Given the description of an element on the screen output the (x, y) to click on. 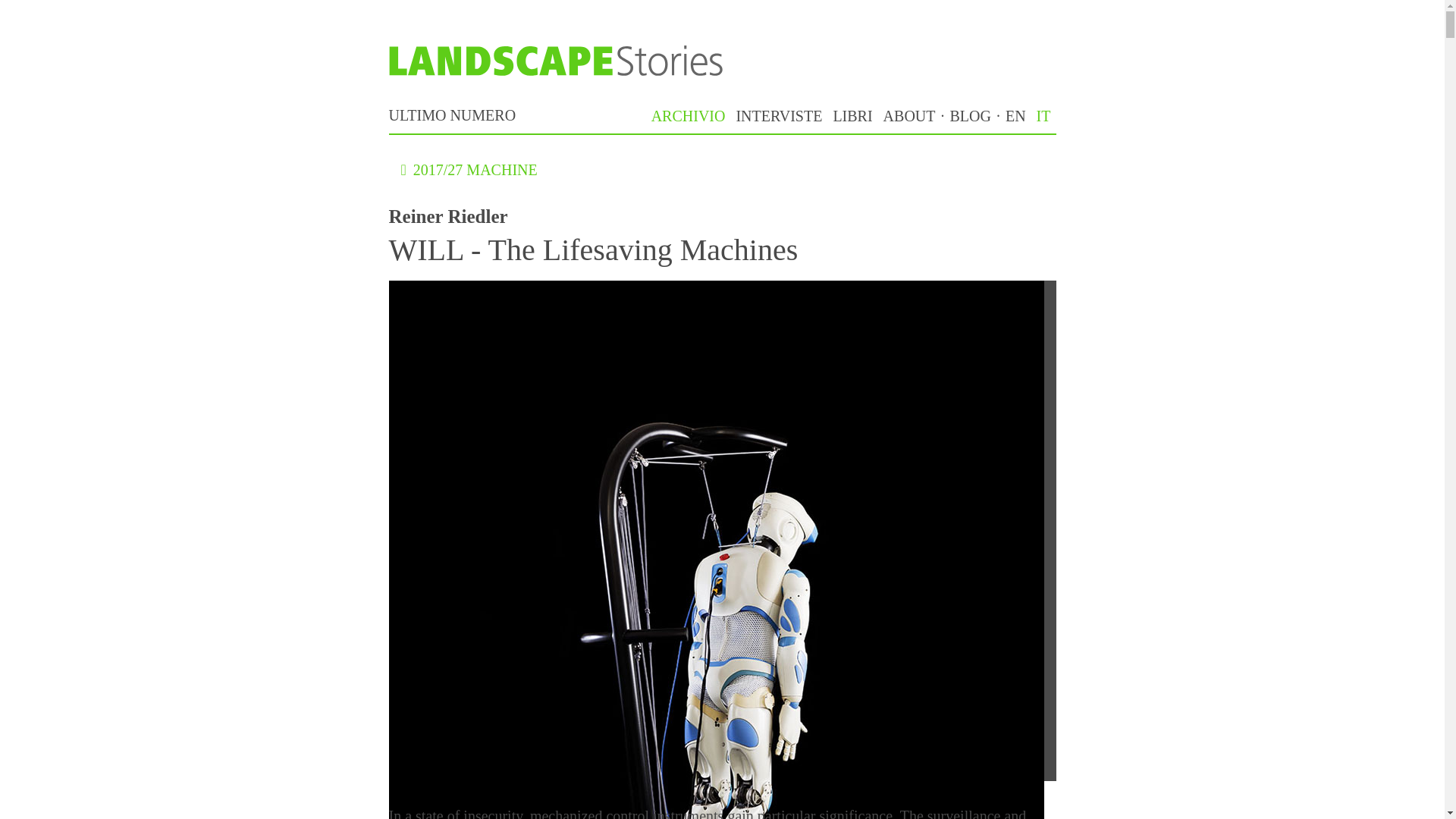
ULTIMO NUMERO (451, 115)
ARCHIVIO (688, 115)
